Given the description of an element on the screen output the (x, y) to click on. 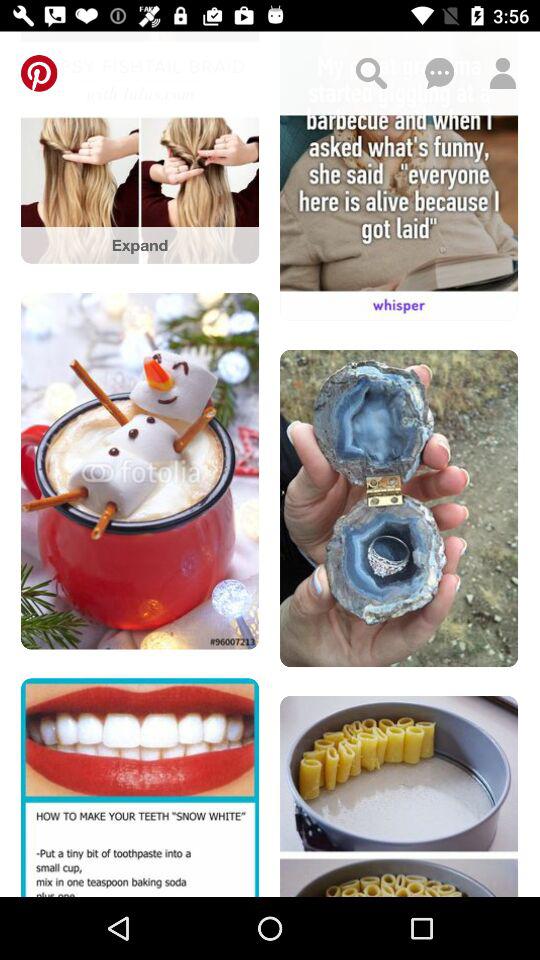
search feature (371, 73)
